Given the description of an element on the screen output the (x, y) to click on. 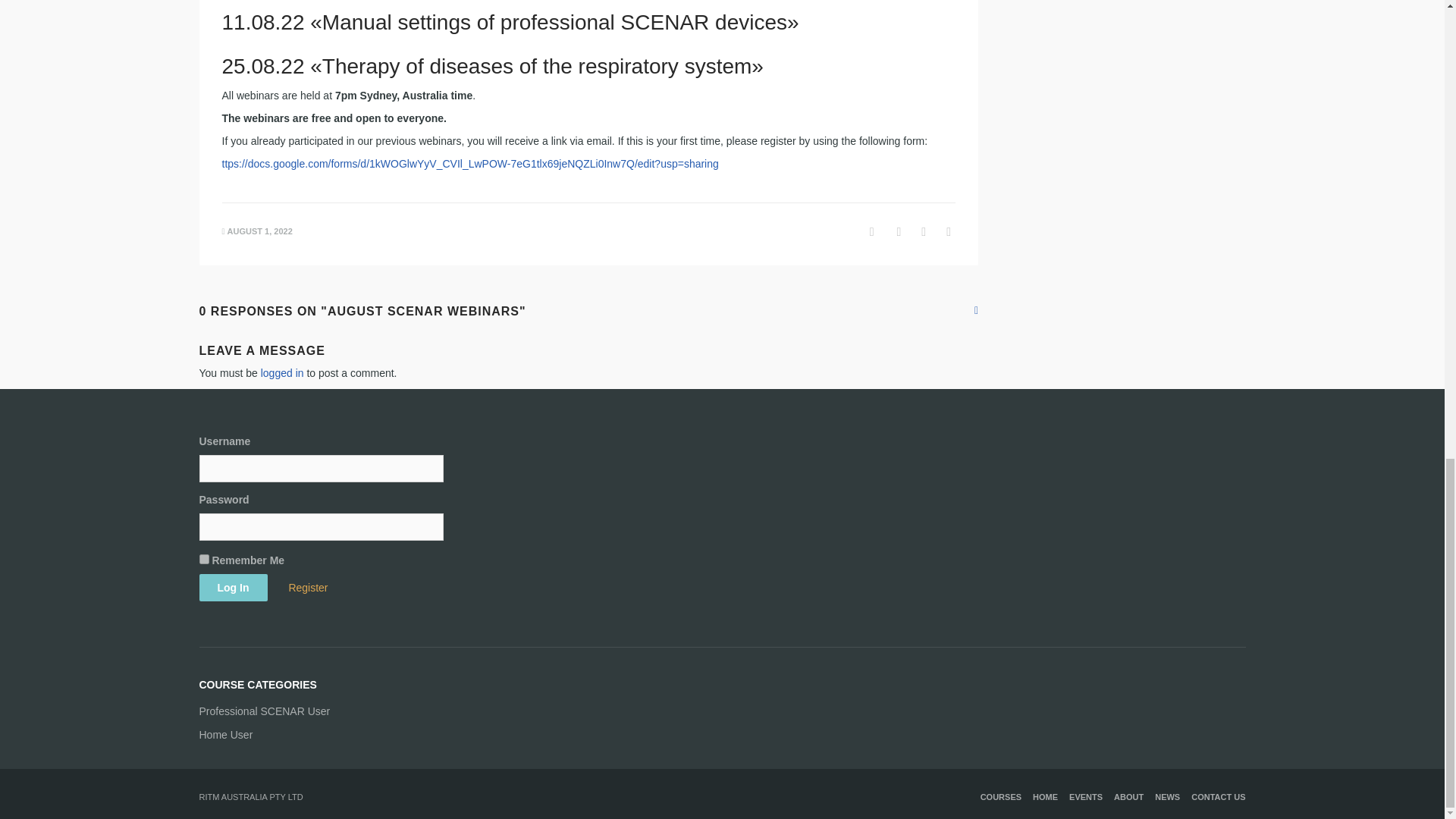
Log In (232, 587)
logged in (282, 372)
forever (203, 559)
